Given the description of an element on the screen output the (x, y) to click on. 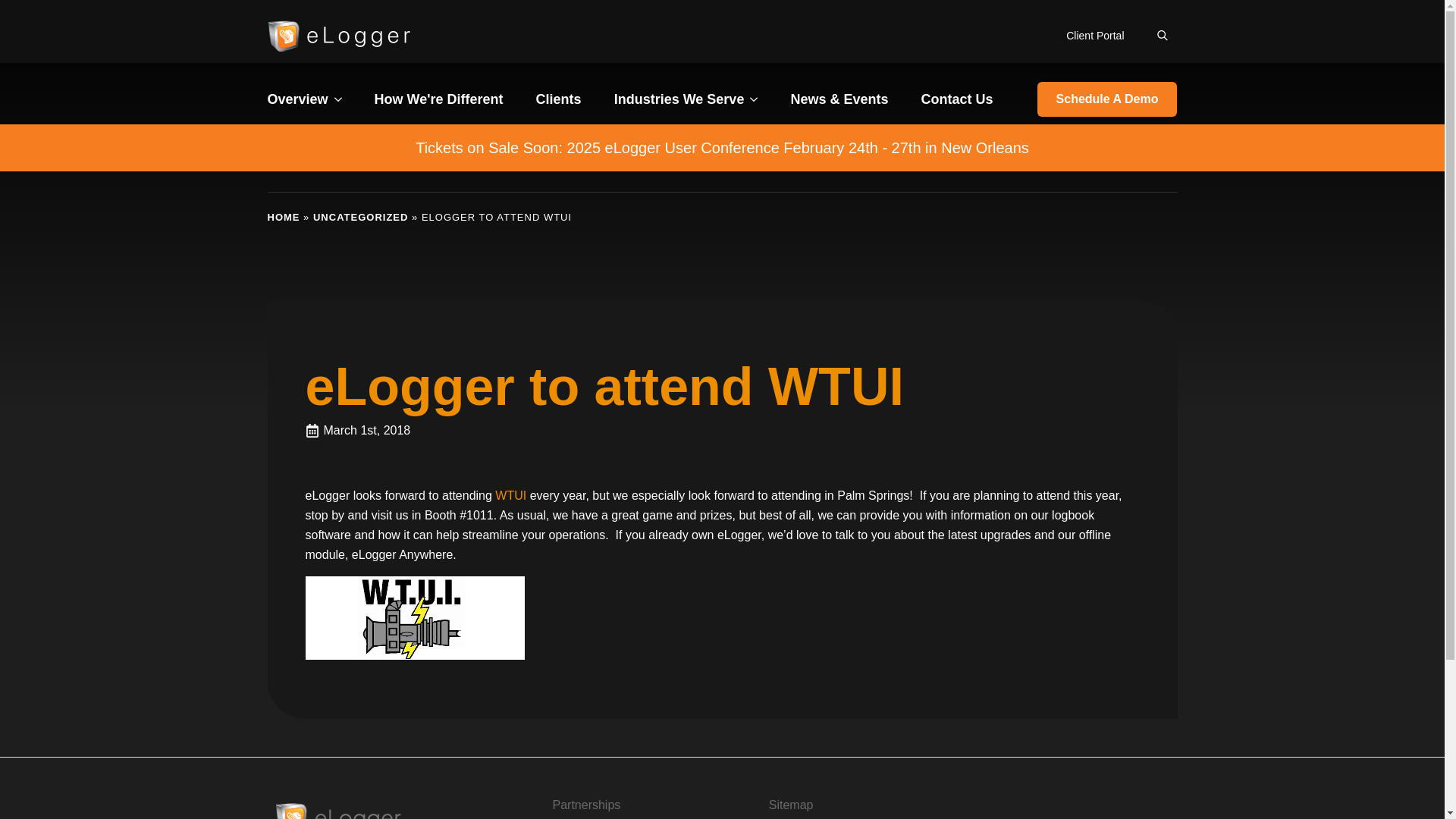
Partnerships (585, 804)
Schedule A Demo (1106, 99)
Industries We Serve (679, 99)
Clients (557, 99)
UNCATEGORIZED (360, 216)
How We're Different (438, 99)
Overview (296, 99)
Sitemap (790, 804)
WTUI (510, 495)
HOME (282, 216)
